Given the description of an element on the screen output the (x, y) to click on. 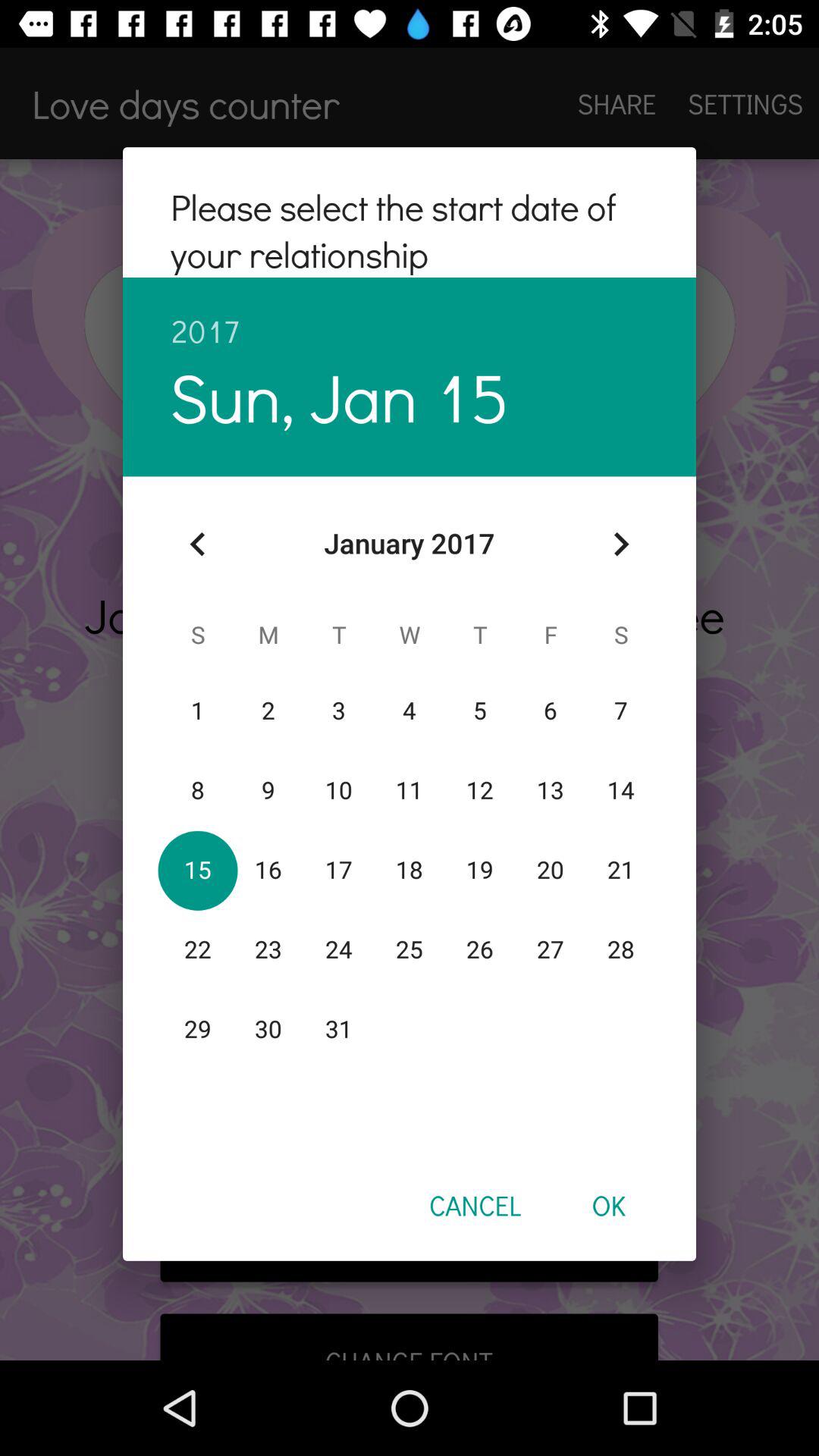
turn on icon to the right of cancel icon (608, 1204)
